Given the description of an element on the screen output the (x, y) to click on. 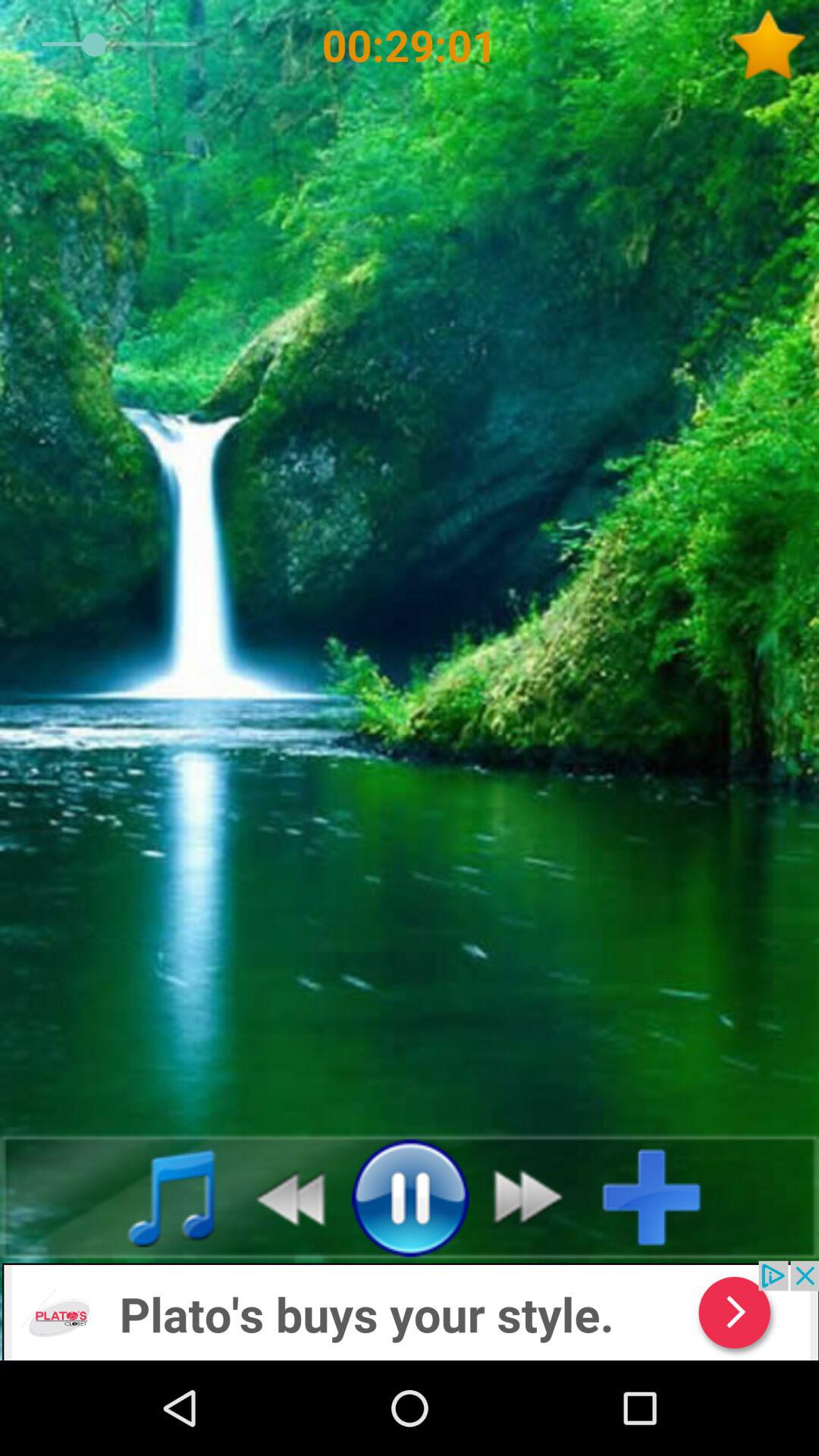
add the music (664, 1196)
